Given the description of an element on the screen output the (x, y) to click on. 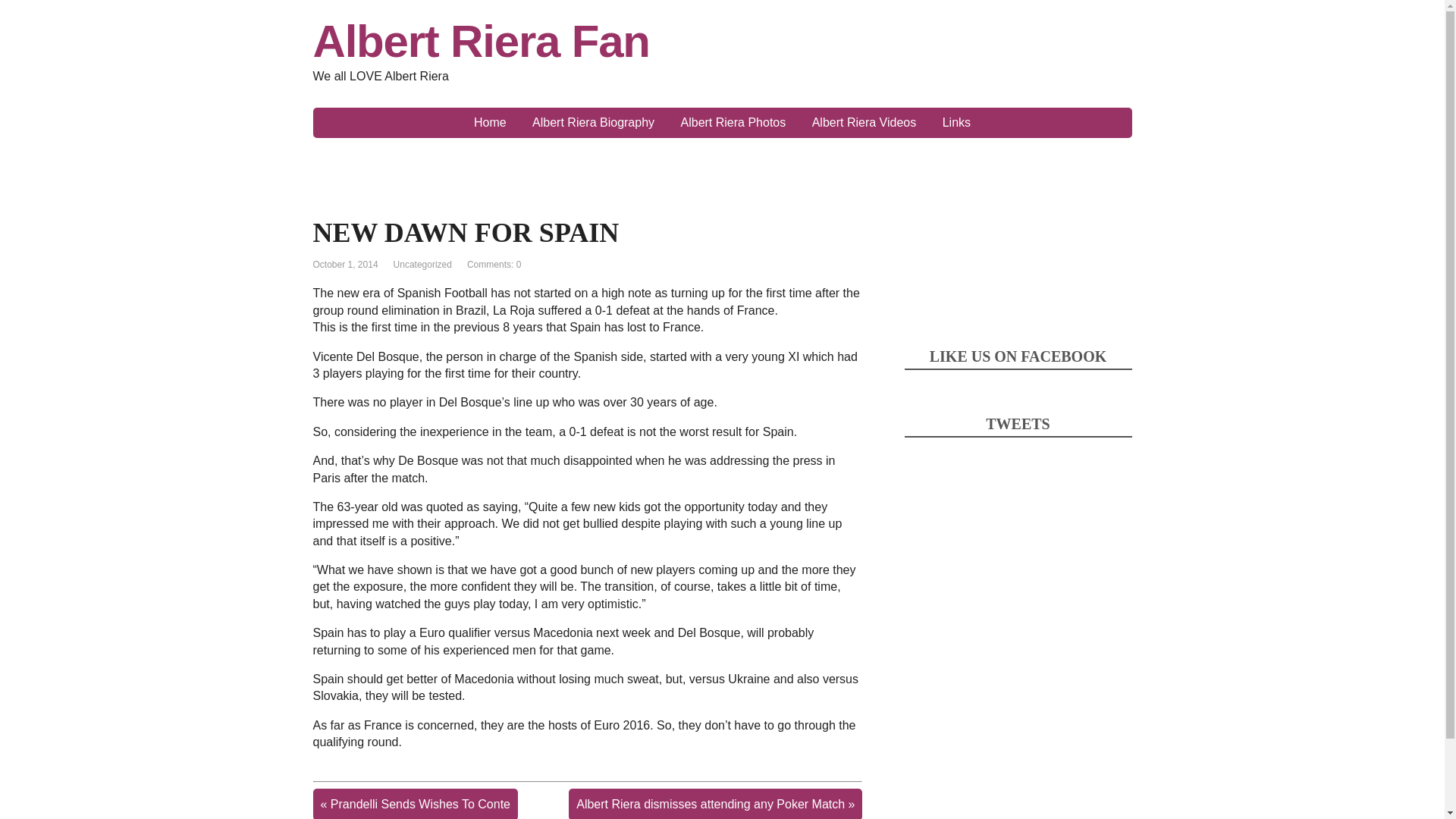
Albert Riera Videos (864, 122)
Albert Riera Biography (593, 122)
Home (490, 122)
Prandelli Sends Wishes To Conte (420, 804)
Comments: 0 (494, 264)
Albert Riera dismisses attending any Poker Match (710, 804)
Links (956, 122)
Albert Riera Photos (732, 122)
Albert Riera Fan (722, 41)
